Given the description of an element on the screen output the (x, y) to click on. 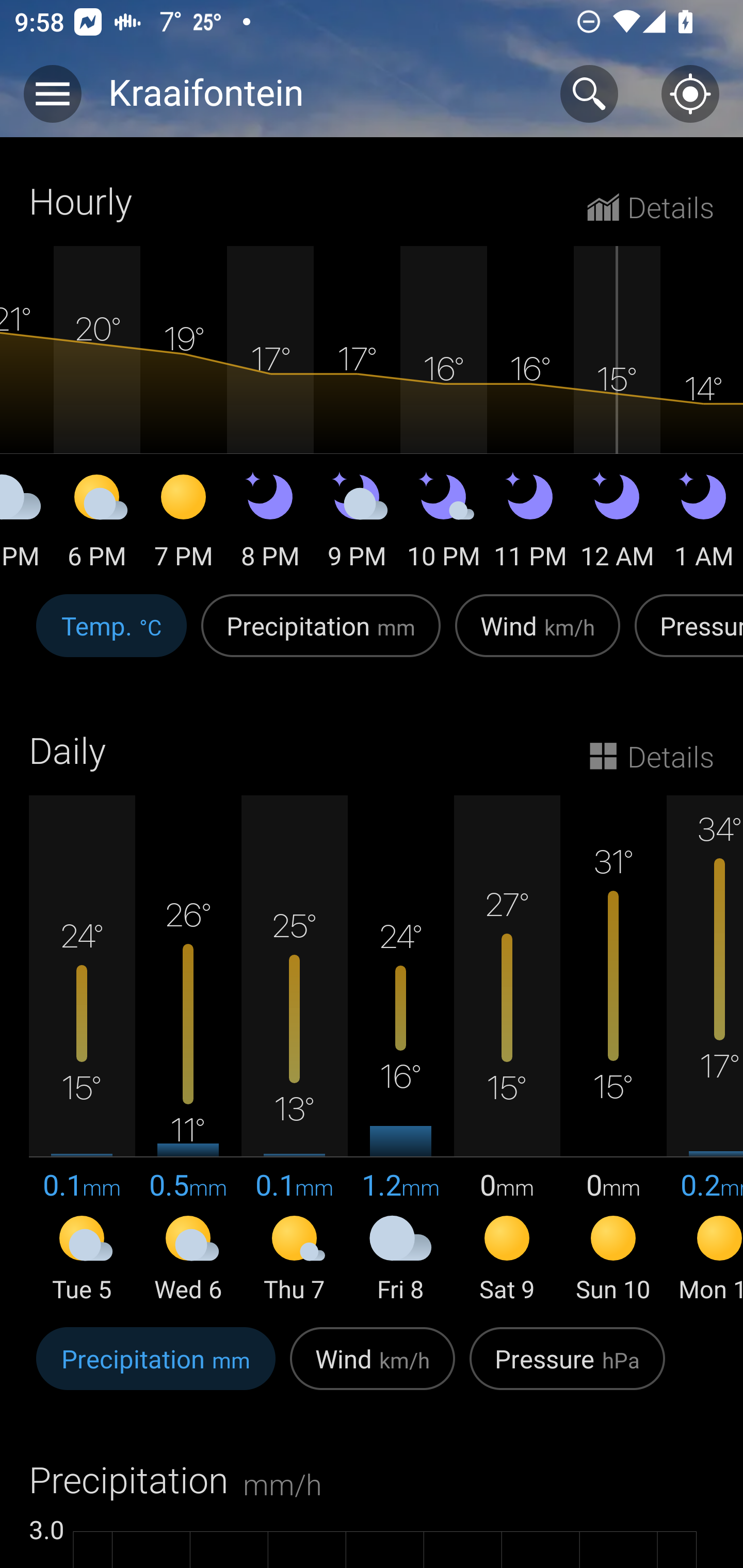
5 PM (26, 524)
6 PM (96, 524)
7 PM (183, 524)
8 PM (270, 524)
9 PM (356, 524)
10 PM (443, 524)
11 PM (530, 524)
12 AM (616, 524)
1 AM (701, 524)
Temp. °C (110, 636)
Precipitation mm (320, 636)
Wind km/h (537, 636)
Pressure (685, 636)
24° 15° 0.1 mm Tue 5 (81, 1050)
26° 11° 0.5 mm Wed 6 (188, 1050)
25° 13° 0.1 mm Thu 7 (294, 1050)
24° 16° 1.2 mm Fri 8 (400, 1050)
27° 15° 0 mm Sat 9 (506, 1050)
31° 15° 0 mm Sun 10 (613, 1050)
34° 17° 0.2 mm Mon 11 (704, 1050)
Precipitation mm (155, 1369)
Wind km/h (372, 1369)
Pressure hPa (567, 1369)
